Given the description of an element on the screen output the (x, y) to click on. 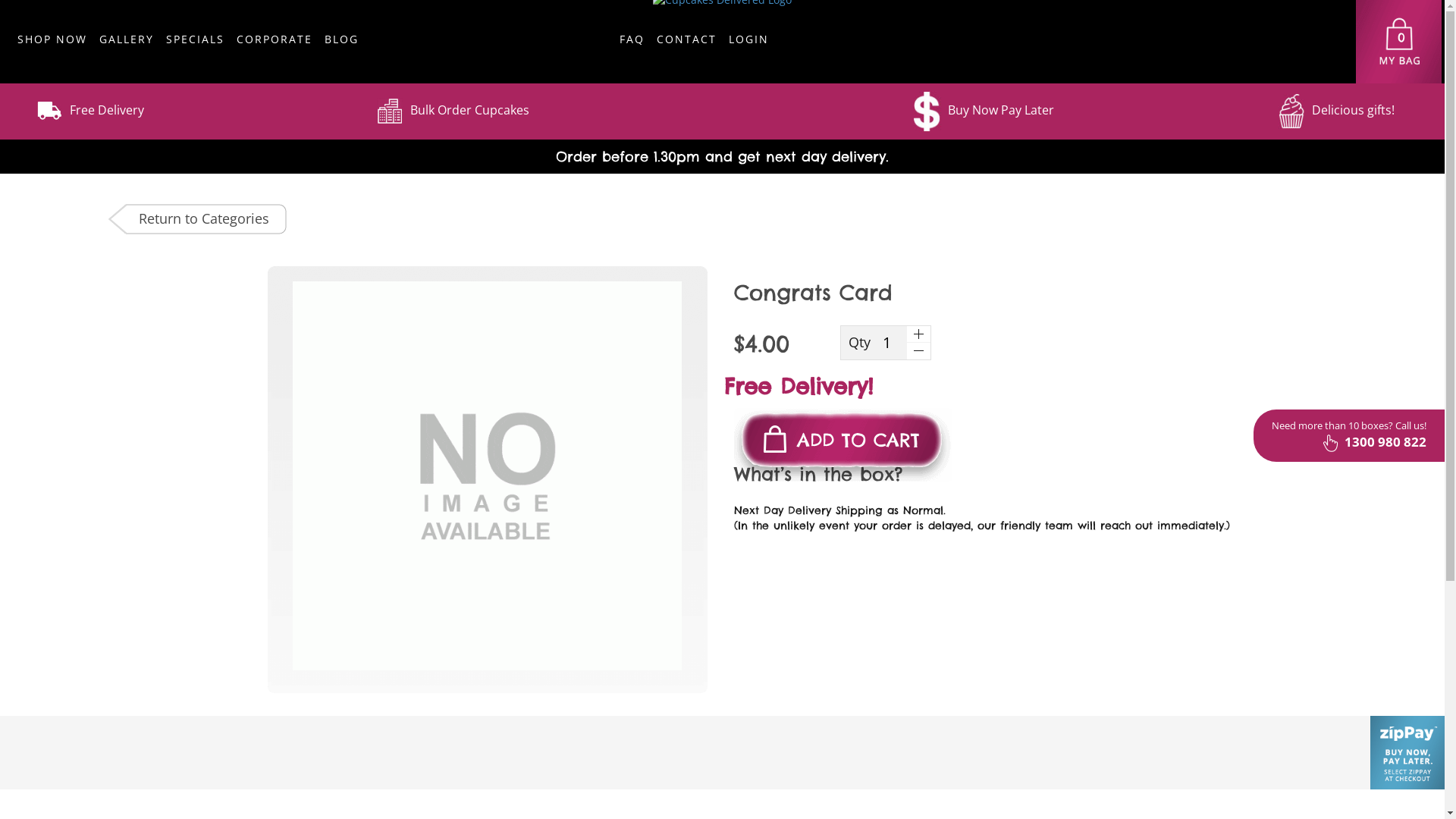
+ Element type: text (917, 333)
FAQ Element type: text (631, 41)
SPECIALS Element type: text (195, 41)
CORPORATE Element type: text (274, 41)
Free
Delivery Element type: text (90, 110)
0 Element type: text (1398, 41)
SHOP NOW Element type: text (52, 41)
GALLERY Element type: text (126, 41)
Need more than 10 boxes? Call us!
1300 980 822 Element type: text (1348, 435)
ADD TO CART Element type: text (843, 444)
Bulk Order
Cupcakes Element type: text (452, 110)
BLOG Element type: text (341, 41)
- Element type: text (917, 351)
Return to Categories Element type: text (196, 219)
Add to cart Element type: text (109, 36)
Skip to main content Element type: text (0, 68)
CONTACT Element type: text (686, 41)
LOGIN Element type: text (748, 41)
